Given the description of an element on the screen output the (x, y) to click on. 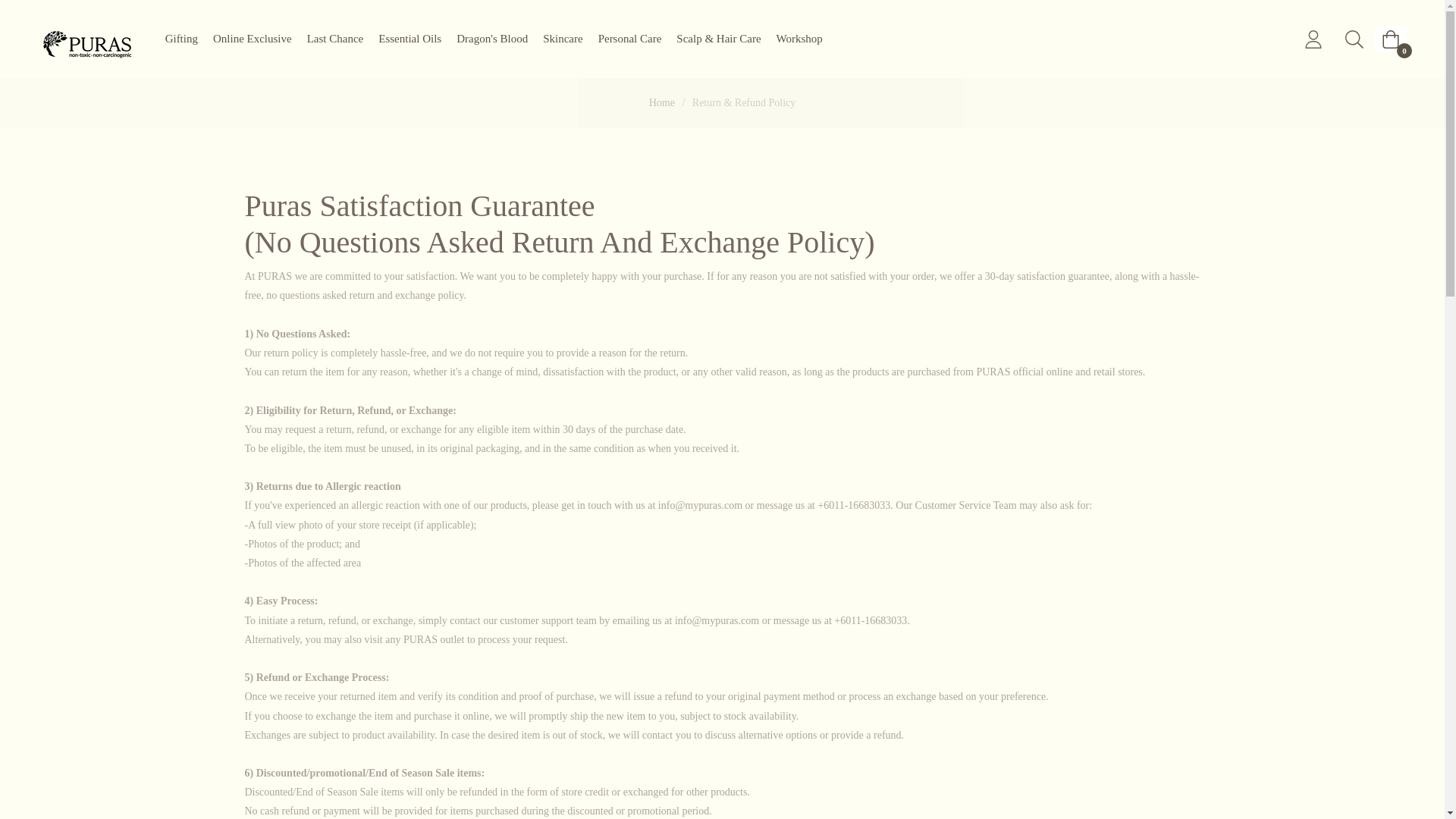
Online Exclusive (252, 38)
Home (661, 102)
Dragon'S Blood (491, 38)
Essential Oils (409, 38)
Gifting (181, 38)
Skincare (562, 38)
Shopping Cart (1390, 38)
Last Chance (335, 38)
